Given the description of an element on the screen output the (x, y) to click on. 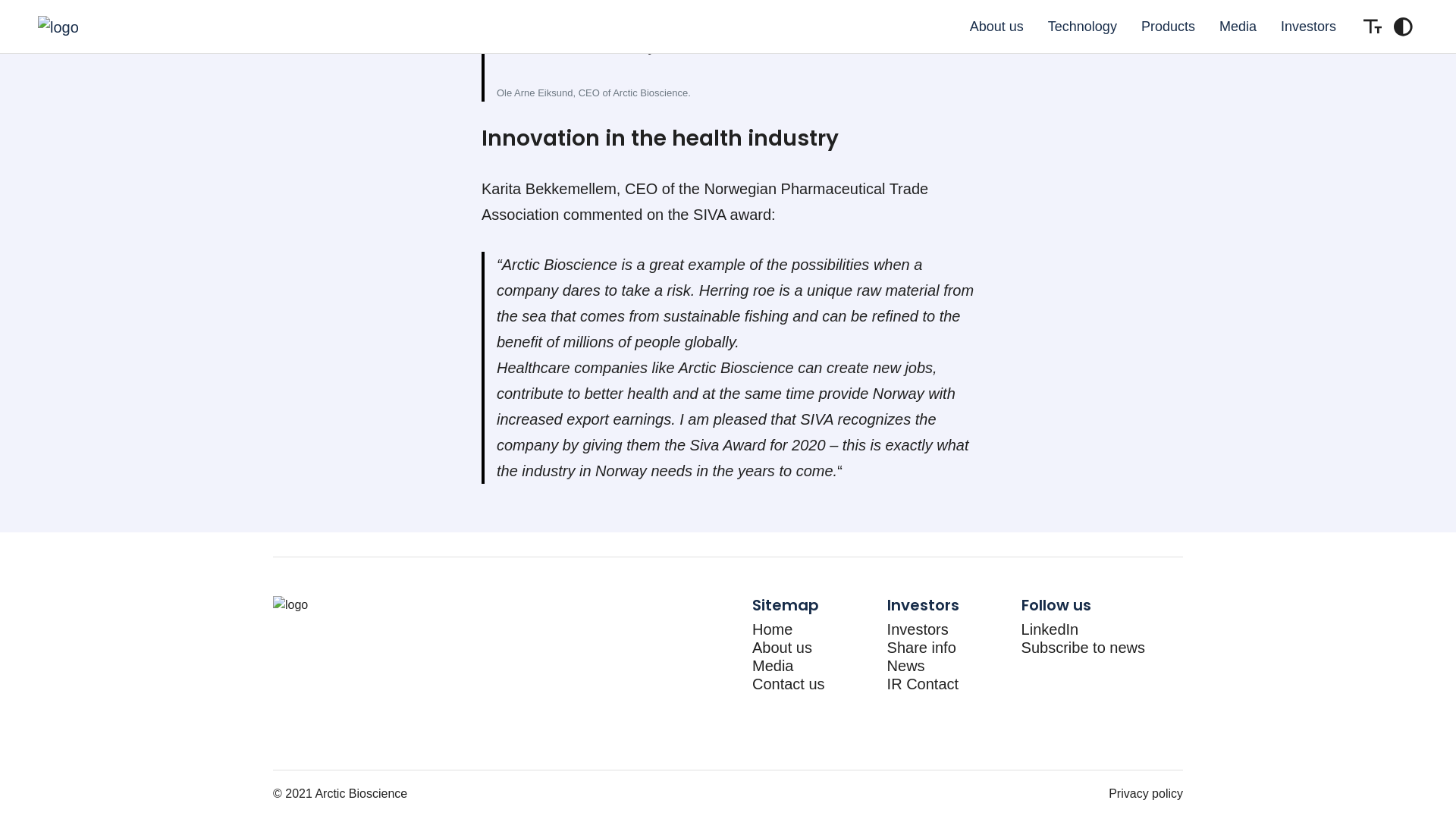
Share info (921, 647)
Home (772, 629)
Privacy policy (1145, 793)
News (905, 665)
Contact us (788, 683)
IR Contact (922, 683)
Investors (917, 629)
Subscribe to news (1083, 647)
About us (782, 647)
Media (772, 665)
